Given the description of an element on the screen output the (x, y) to click on. 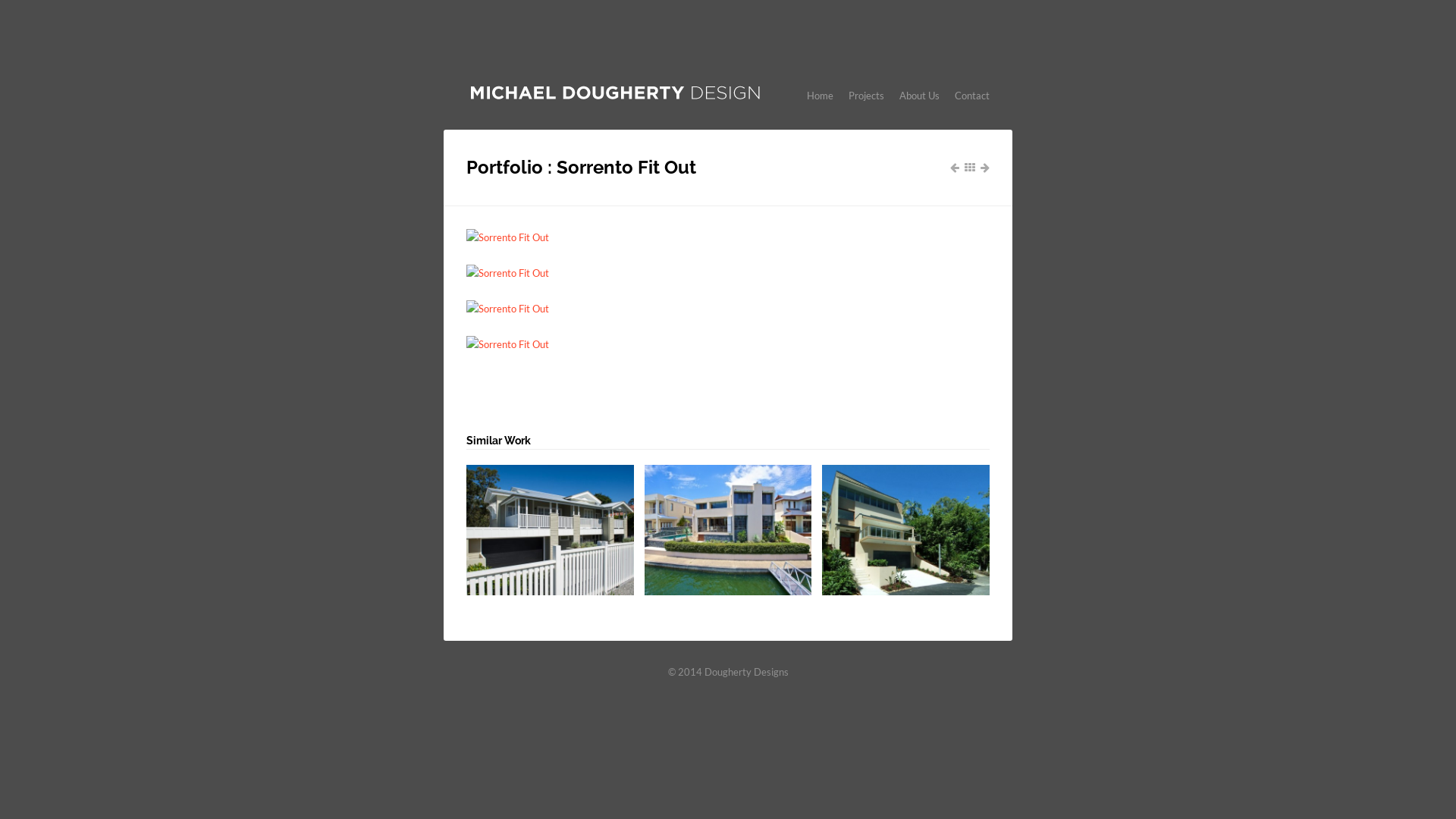
Contact Element type: text (971, 94)
Projects Element type: text (866, 94)
Sorrento Fit Out Element type: hover (727, 308)
Home Element type: text (819, 94)
Peninsula House Element type: hover (728, 530)
Fifth House Element type: hover (549, 530)
Sorrento Fit Out Element type: hover (727, 237)
Hill House Element type: hover (905, 530)
Sorrento Fit Out Element type: hover (727, 272)
About Us Element type: text (919, 94)
michael dougherty designs Element type: hover (614, 98)
Portfolio Element type: hover (969, 167)
Sorrento Fit Out Element type: hover (727, 343)
